Given the description of an element on the screen output the (x, y) to click on. 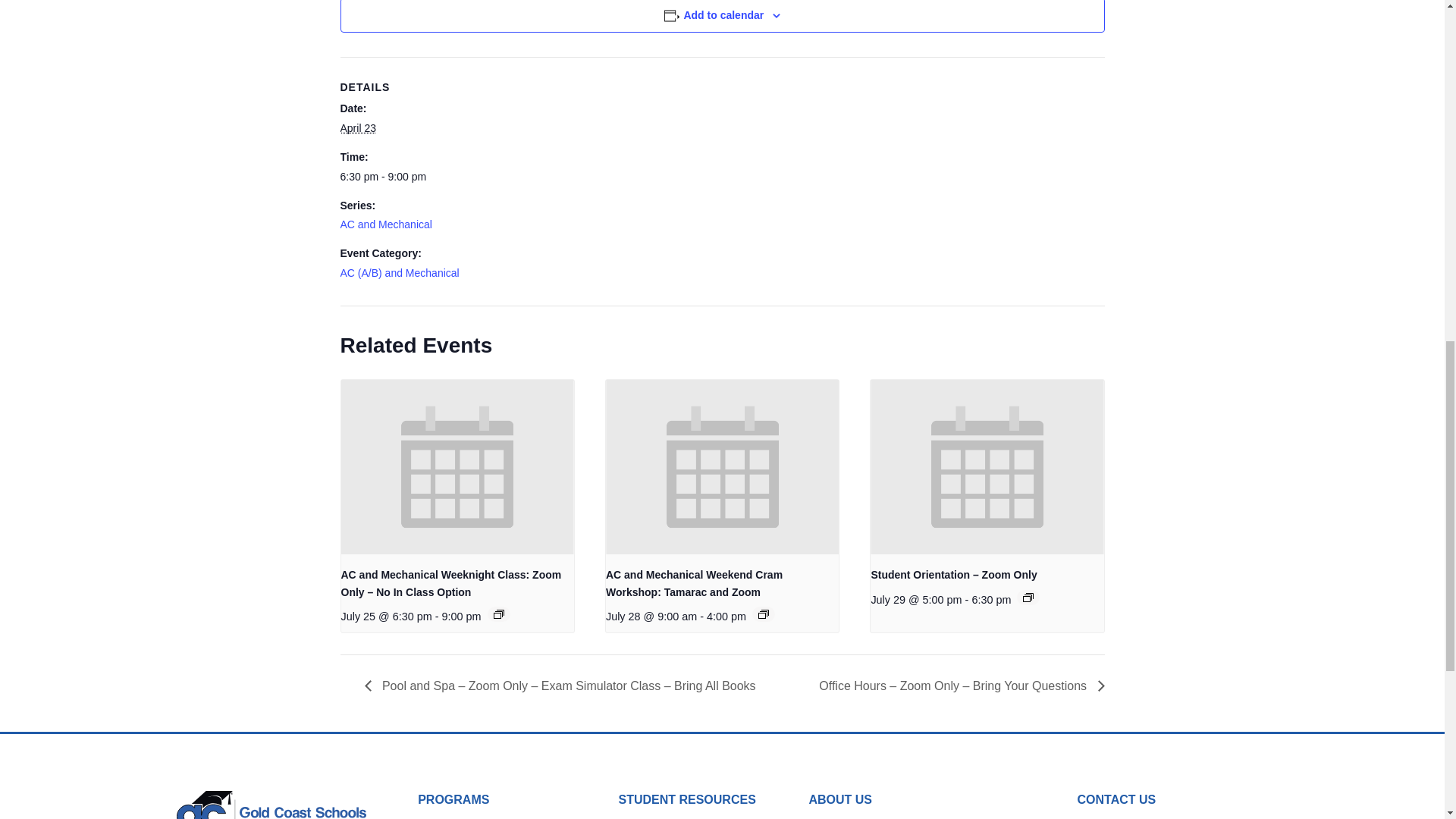
Event Series (1028, 596)
AC and Mechanical (384, 224)
Event Series (498, 614)
Event Series (763, 614)
2024-04-23 (357, 128)
2024-04-23 (403, 176)
